Given the description of an element on the screen output the (x, y) to click on. 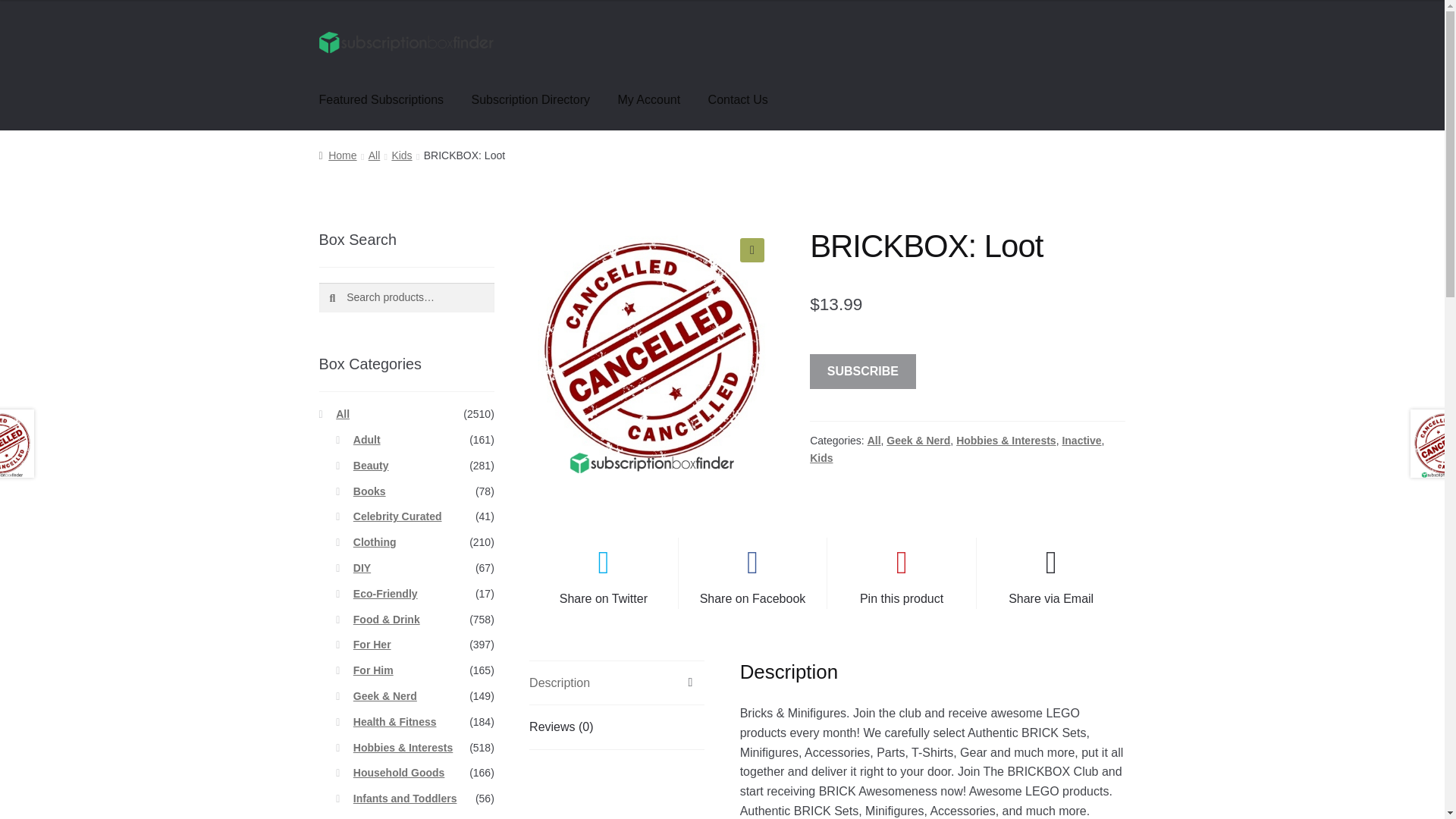
Share via Email (1050, 573)
SUBSCRIBE (862, 371)
Home (337, 155)
All (374, 155)
Share on Twitter (603, 573)
Pin this product (901, 573)
Featured Subscriptions (382, 99)
Inactive (1080, 440)
Subscription Directory (531, 99)
My Account (649, 99)
Kids (401, 155)
All (873, 440)
Cancelled (651, 350)
